Given the description of an element on the screen output the (x, y) to click on. 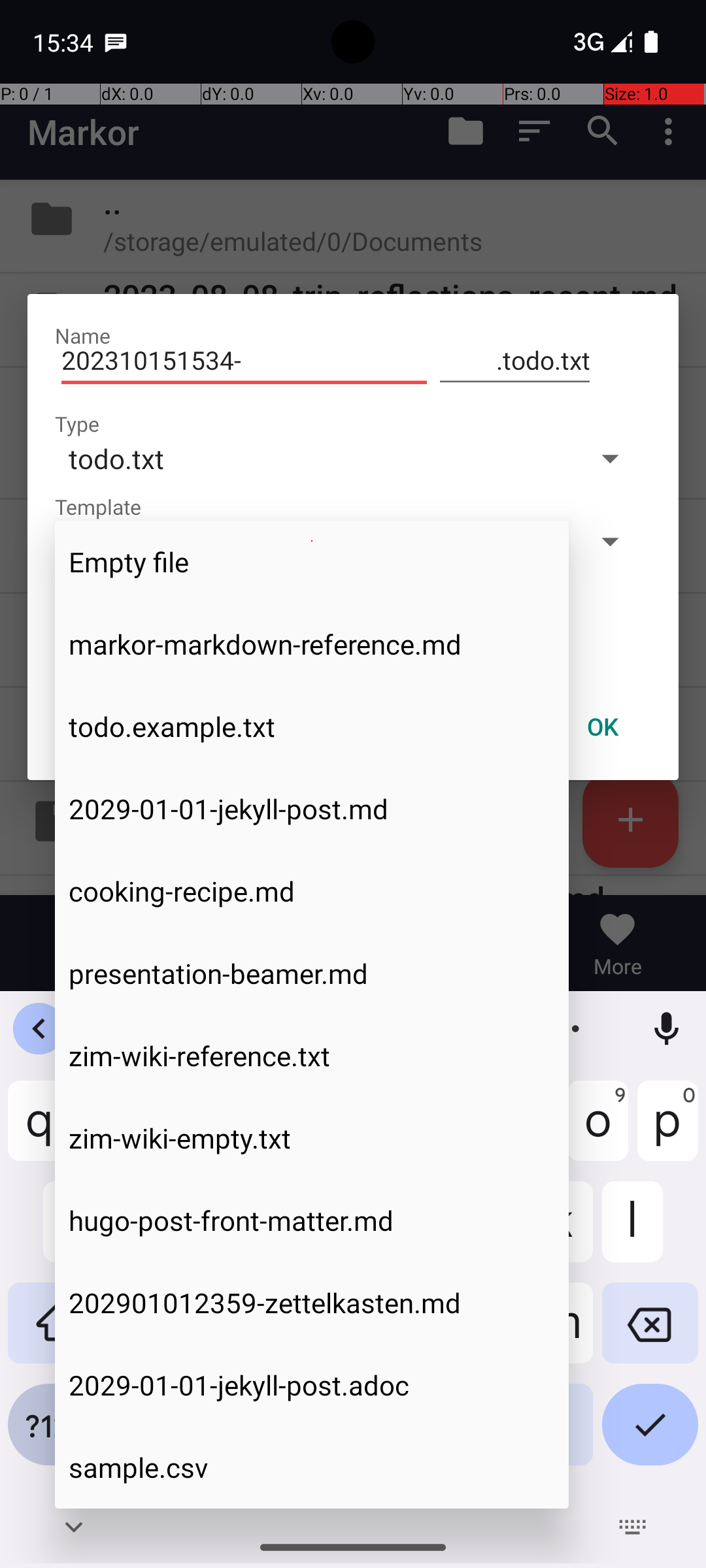
markor-markdown-reference.md Element type: android.widget.CheckedTextView (311, 644)
todo.example.txt Element type: android.widget.CheckedTextView (311, 726)
2029-01-01-jekyll-post.md Element type: android.widget.CheckedTextView (311, 808)
cooking-recipe.md Element type: android.widget.CheckedTextView (311, 890)
presentation-beamer.md Element type: android.widget.CheckedTextView (311, 973)
zim-wiki-reference.txt Element type: android.widget.CheckedTextView (311, 1055)
zim-wiki-empty.txt Element type: android.widget.CheckedTextView (311, 1137)
hugo-post-front-matter.md Element type: android.widget.CheckedTextView (311, 1220)
202901012359-zettelkasten.md Element type: android.widget.CheckedTextView (311, 1302)
2029-01-01-jekyll-post.adoc Element type: android.widget.CheckedTextView (311, 1384)
sample.csv Element type: android.widget.CheckedTextView (311, 1467)
